Given the description of an element on the screen output the (x, y) to click on. 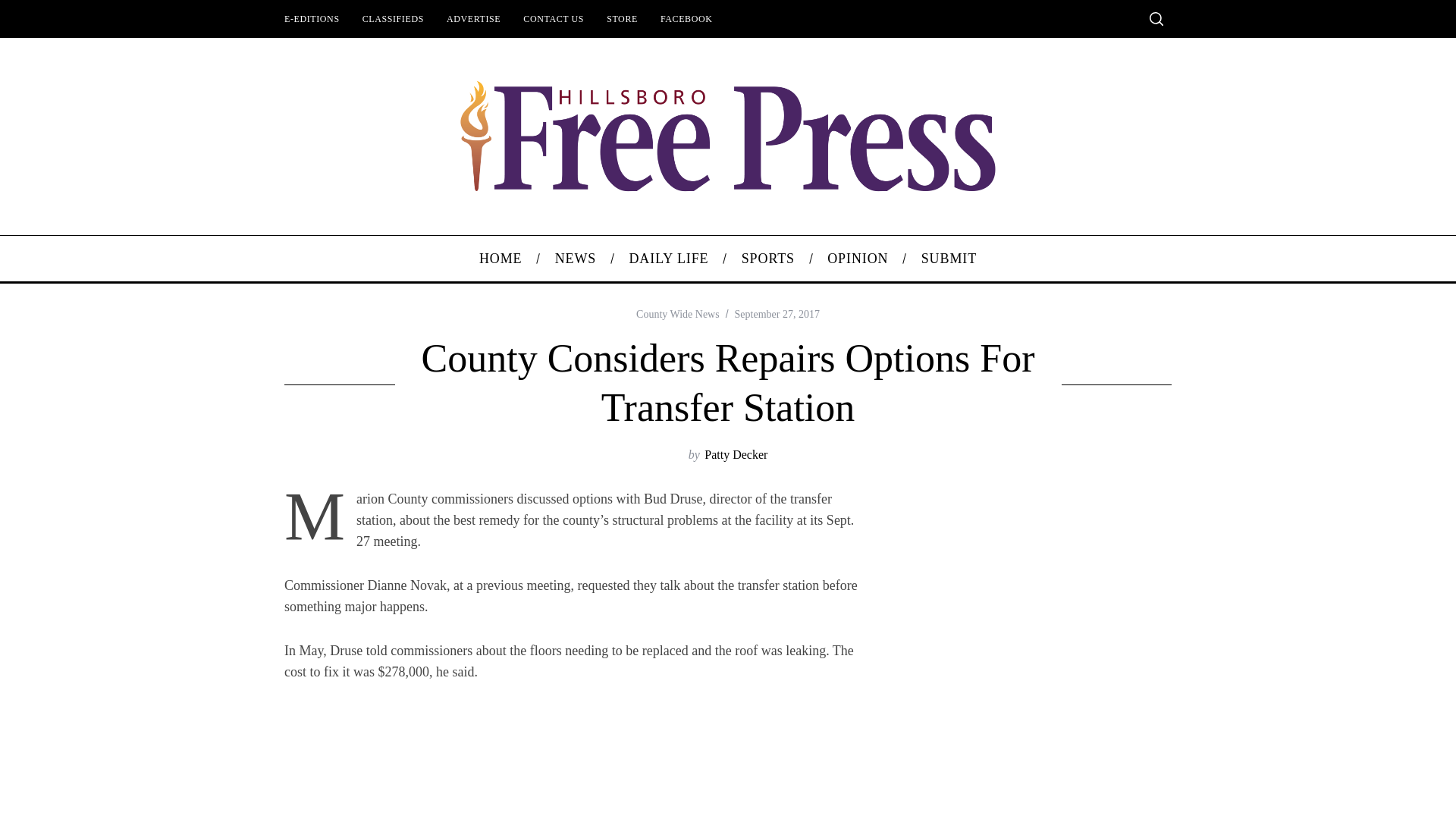
STORE (622, 18)
SPORTS (767, 258)
ADVERTISE (473, 18)
CONTACT US (553, 18)
FACEBOOK (686, 18)
CLASSIFIEDS (392, 18)
E-EDITIONS (311, 18)
DAILY LIFE (668, 258)
OPINION (857, 258)
